Given the description of an element on the screen output the (x, y) to click on. 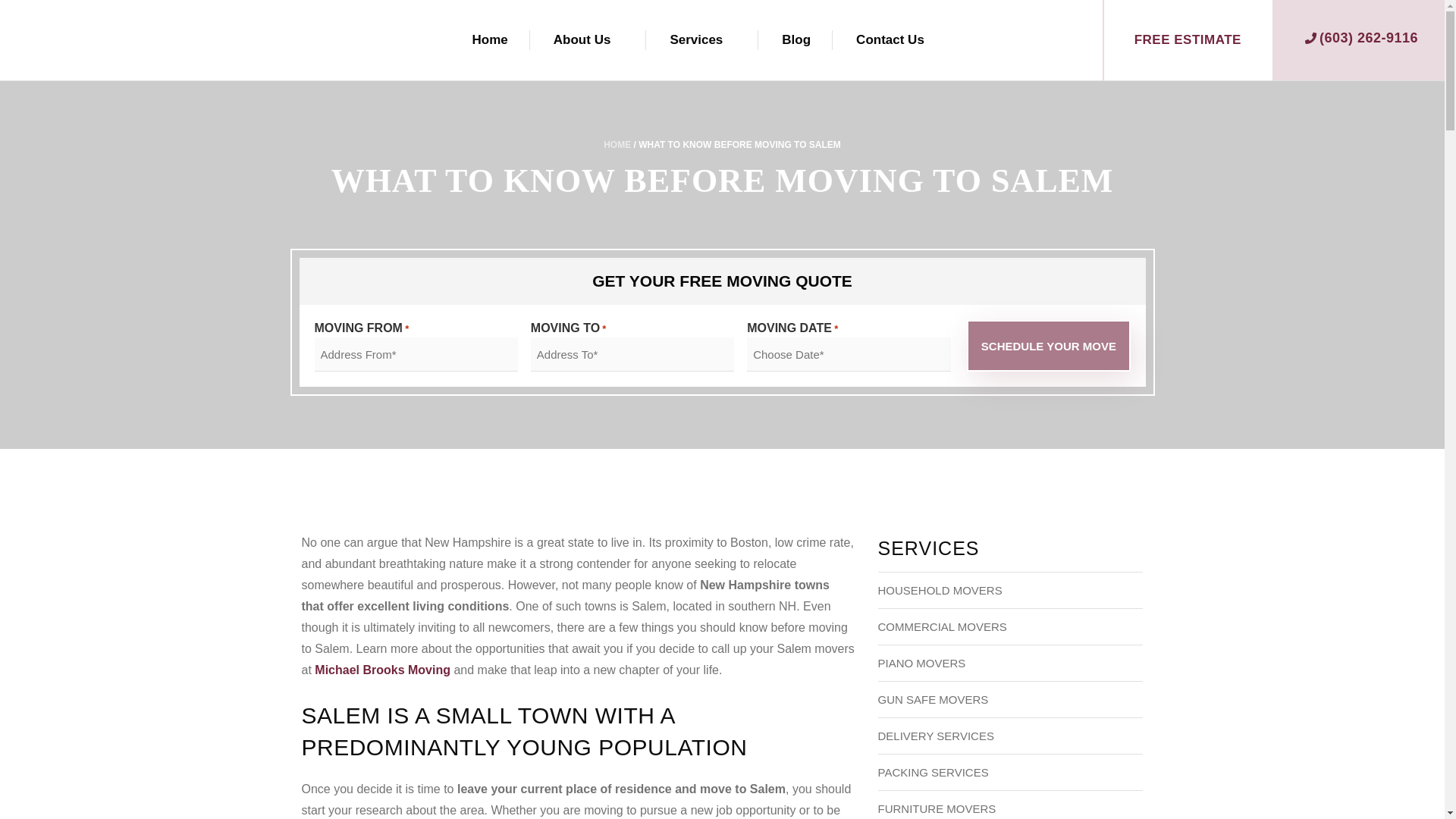
Contact Us (890, 39)
About Us (582, 39)
Services (695, 39)
HOME (617, 144)
FREE ESTIMATE (1187, 40)
Schedule Your Move (1047, 345)
